Given the description of an element on the screen output the (x, y) to click on. 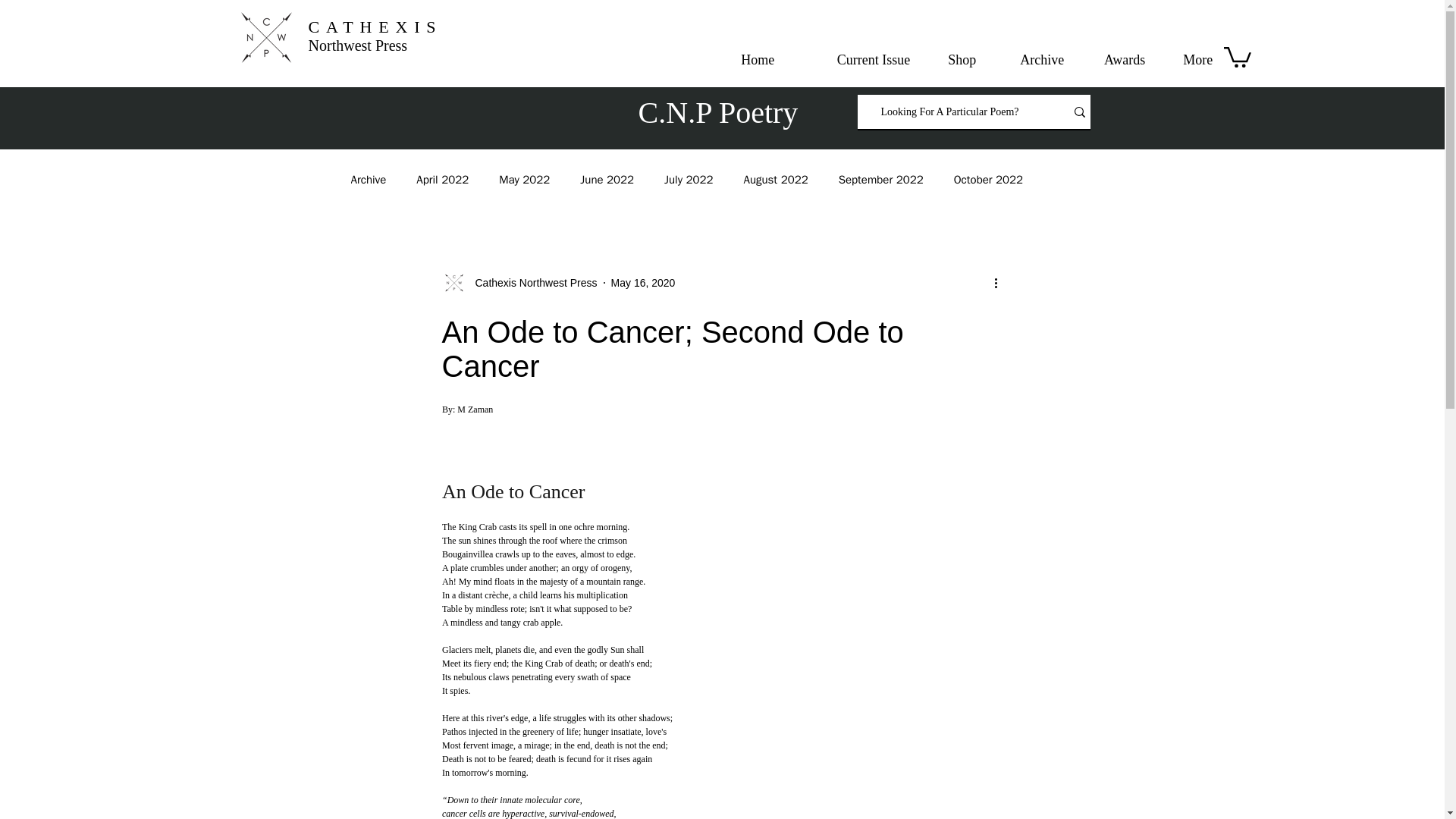
Home (751, 59)
Awards (1115, 59)
Northwest Press (357, 45)
May 2022 (524, 179)
August 2022 (775, 179)
April 2022 (442, 179)
Archive (367, 179)
Archive (1031, 59)
June 2022 (606, 179)
Current Issue (853, 59)
Cathexis Northwest Press (530, 282)
July 2022 (688, 179)
October 2022 (988, 179)
Shop (954, 59)
May 16, 2020 (643, 282)
